Given the description of an element on the screen output the (x, y) to click on. 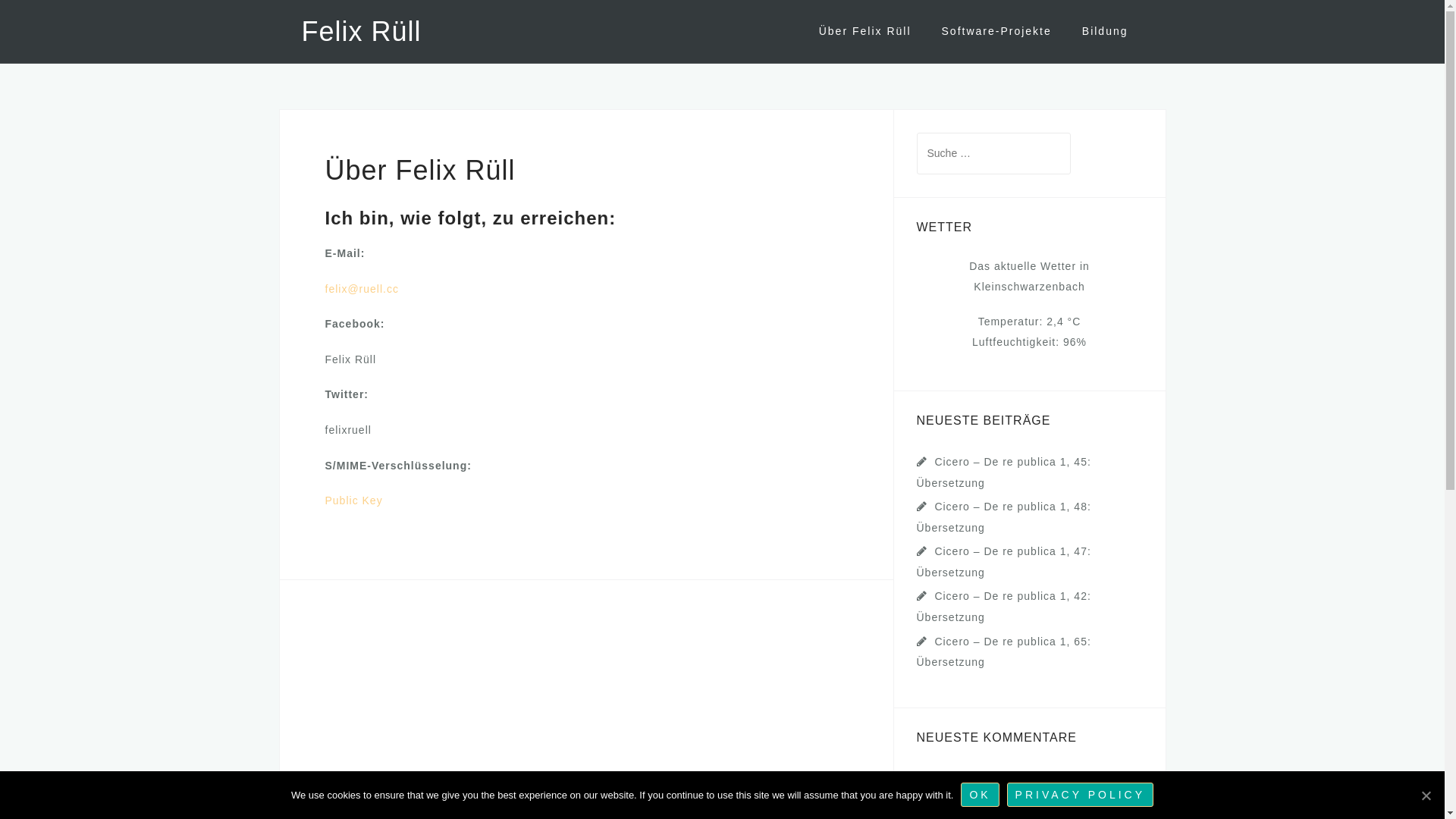
PRIVACY POLICY Element type: text (1080, 794)
felix@ruell.cc Element type: text (361, 288)
Bildung Element type: text (1105, 30)
Suche Element type: text (49, 20)
Skip to content Element type: text (0, 0)
OK Element type: text (979, 794)
Software-Projekte Element type: text (996, 30)
Public Key Element type: text (353, 500)
